Given the description of an element on the screen output the (x, y) to click on. 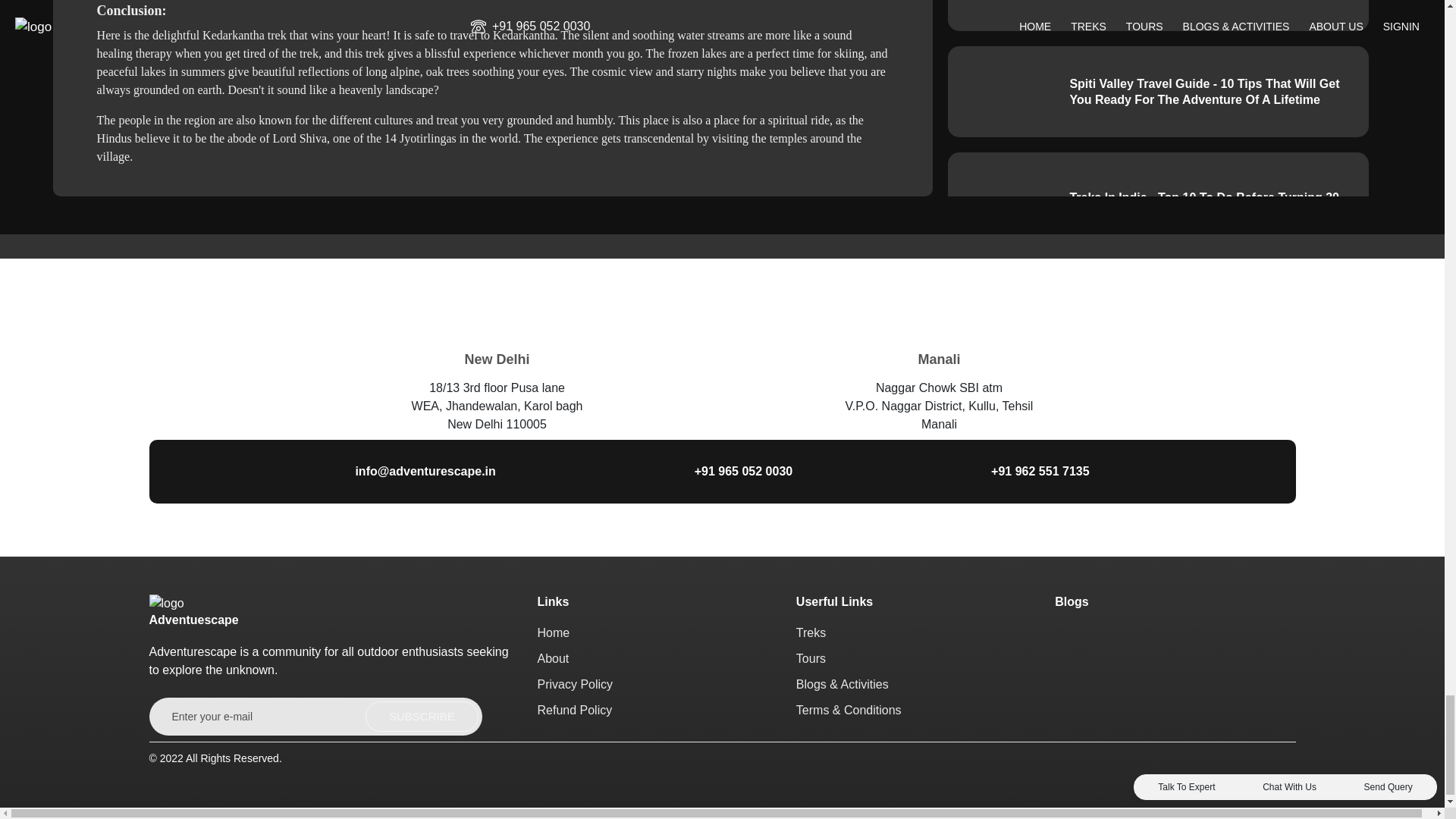
Subscribe (422, 716)
